Given the description of an element on the screen output the (x, y) to click on. 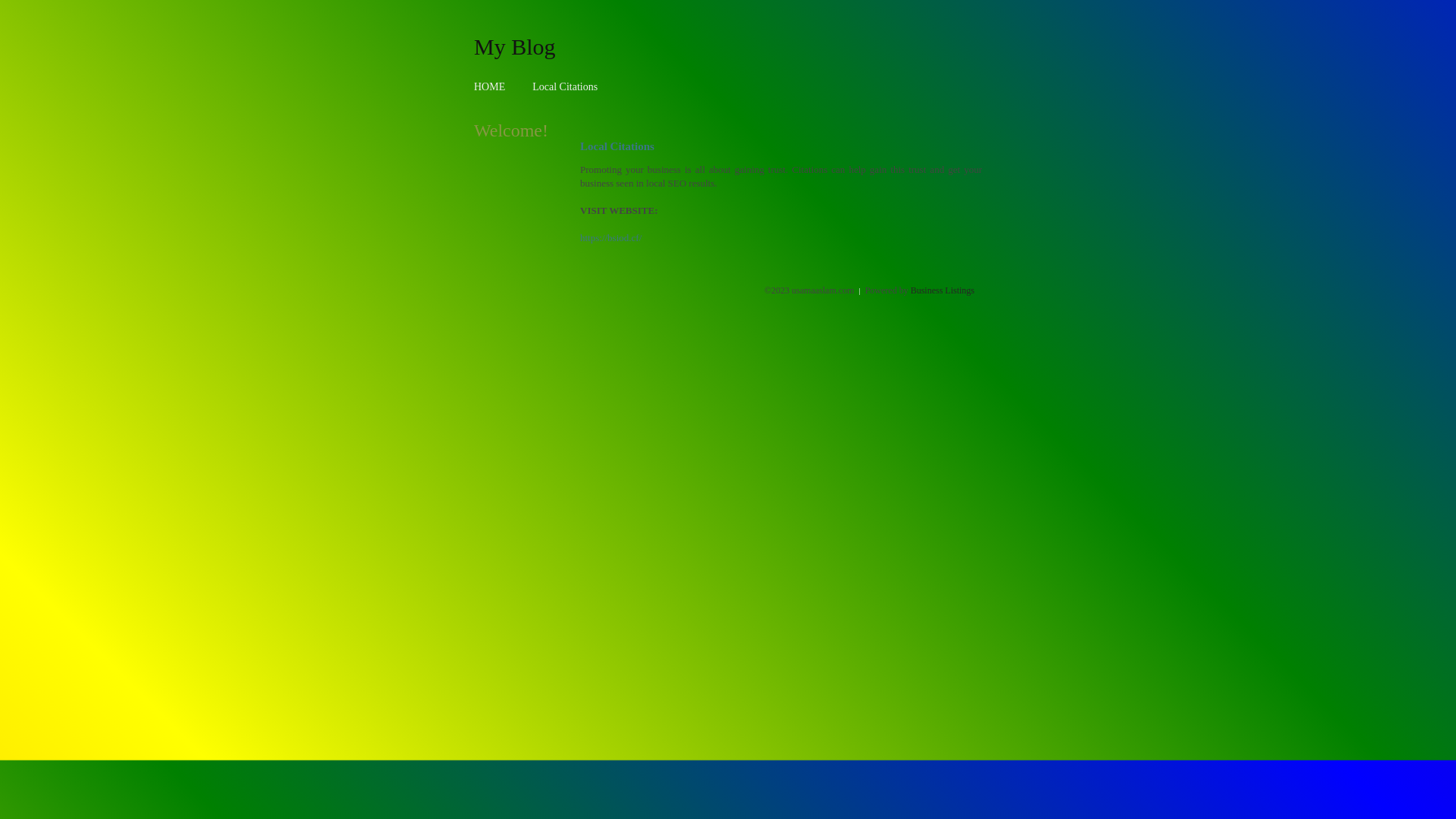
Local Citations Element type: text (564, 86)
HOME Element type: text (489, 86)
Business Listings Element type: text (942, 290)
My Blog Element type: text (514, 46)
https://bsiod.cf/ Element type: text (610, 237)
